Given the description of an element on the screen output the (x, y) to click on. 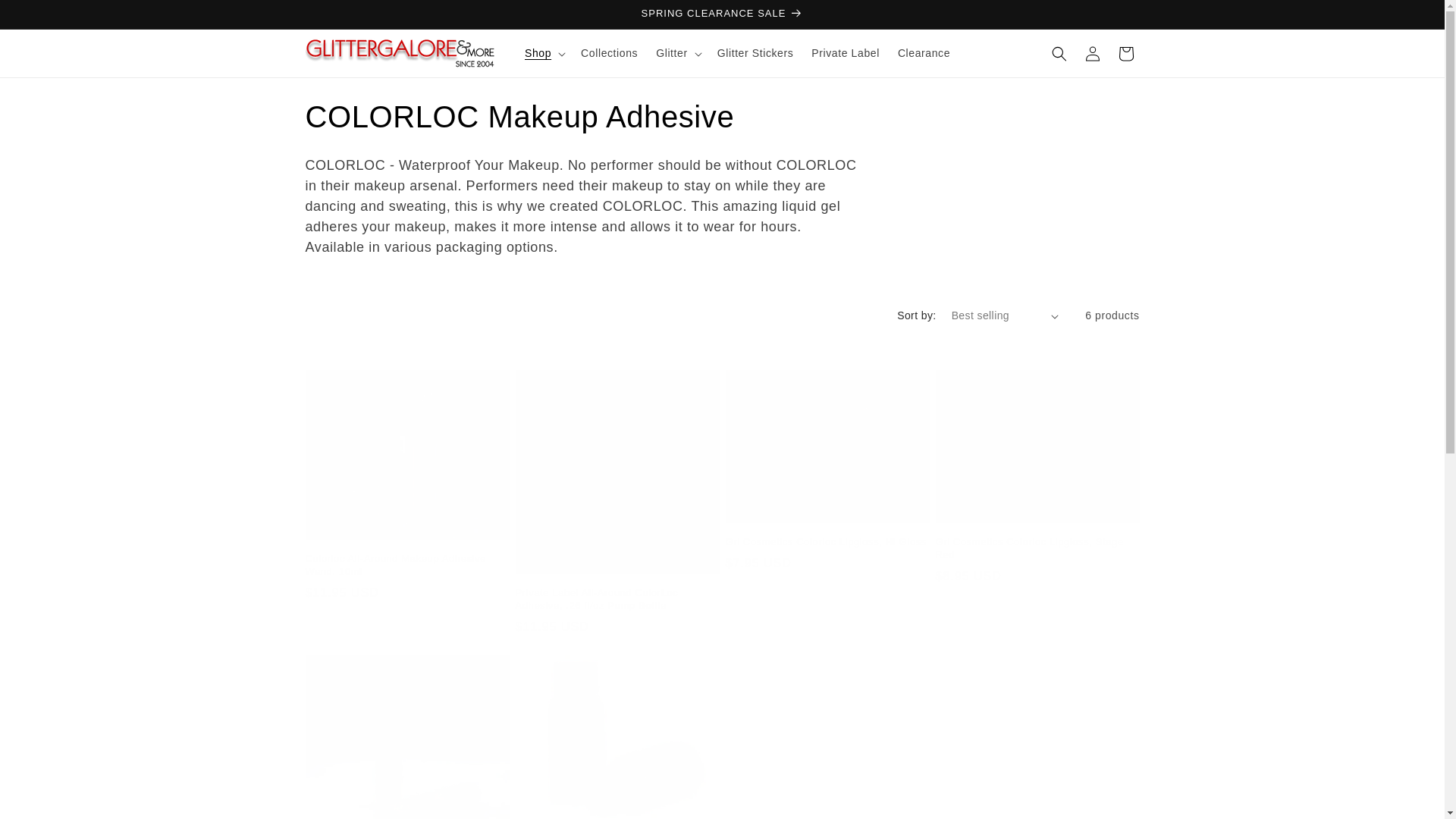
Skip to content (45, 17)
SPRING CLEARANCE SALE (721, 14)
